Given the description of an element on the screen output the (x, y) to click on. 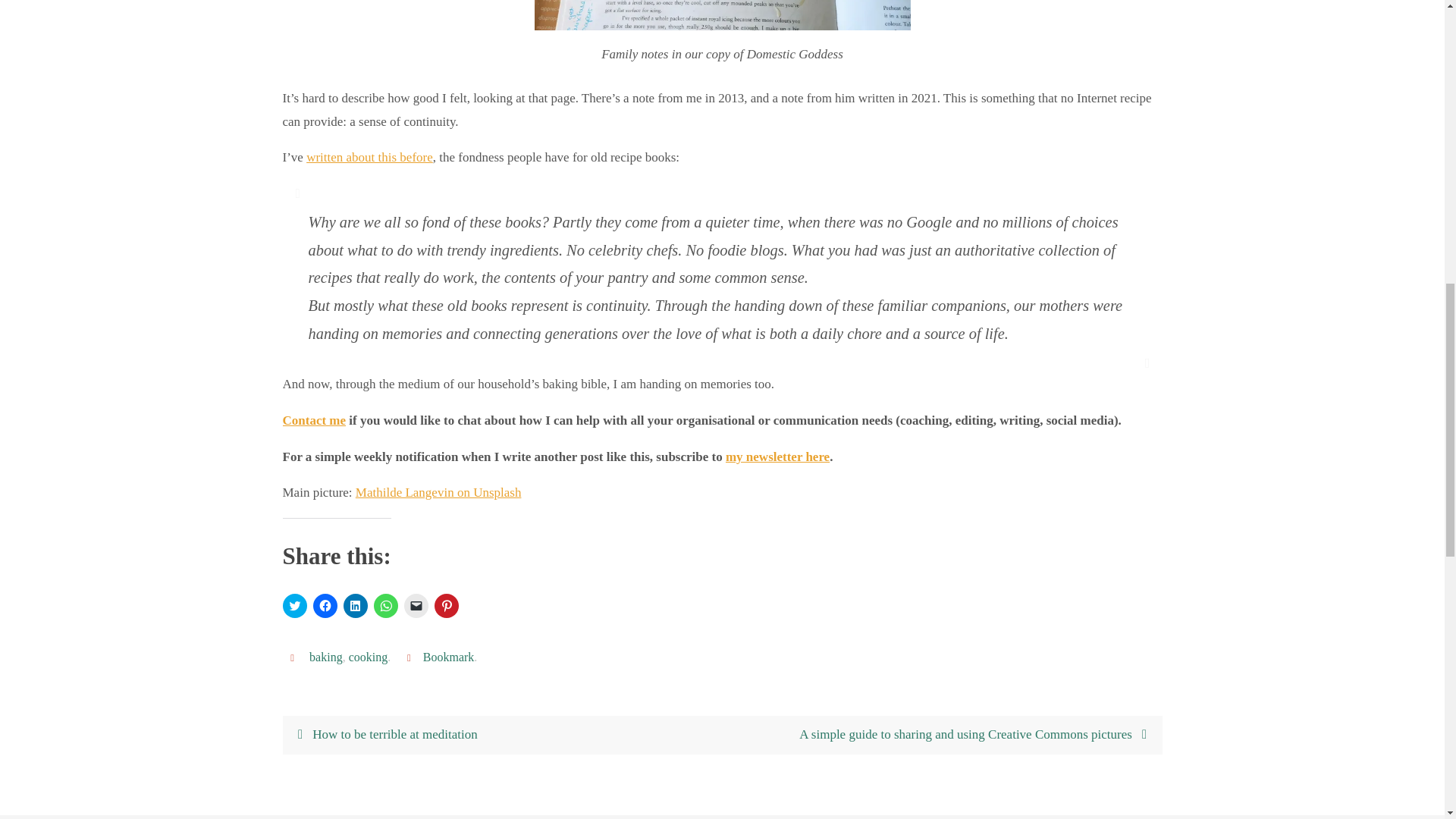
written about this before (368, 156)
cooking (368, 657)
Click to share on Twitter (293, 605)
baking (325, 657)
Click to share on LinkedIn (354, 605)
my newsletter here (777, 456)
Mathilde Langevin on Unsplash (438, 492)
Bookmark (448, 657)
Click to share on Facebook (324, 605)
Contact me (314, 420)
